Given the description of an element on the screen output the (x, y) to click on. 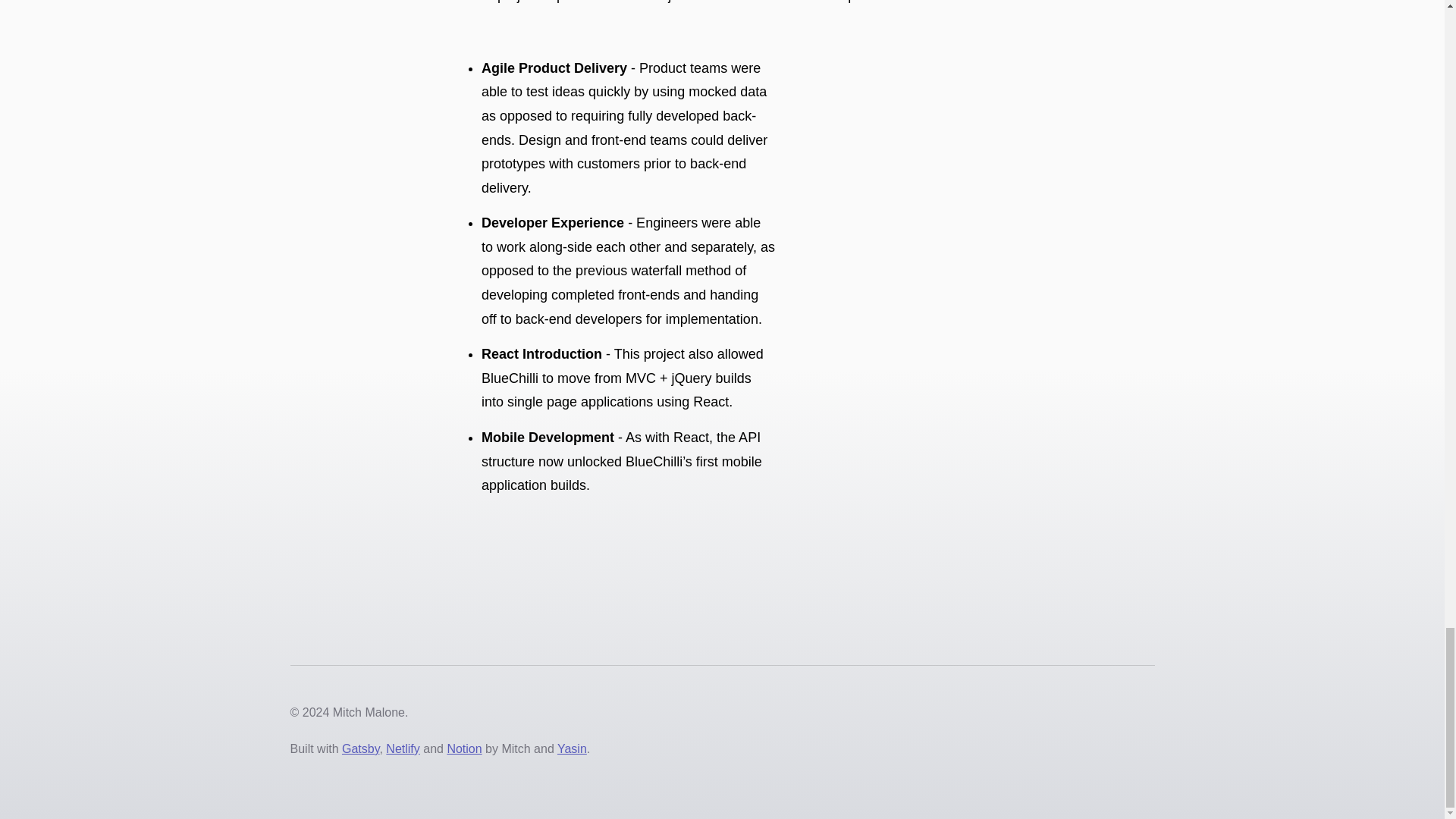
Yasin (571, 748)
Gatsby (361, 748)
Netlify (402, 748)
Notion (463, 748)
